Given the description of an element on the screen output the (x, y) to click on. 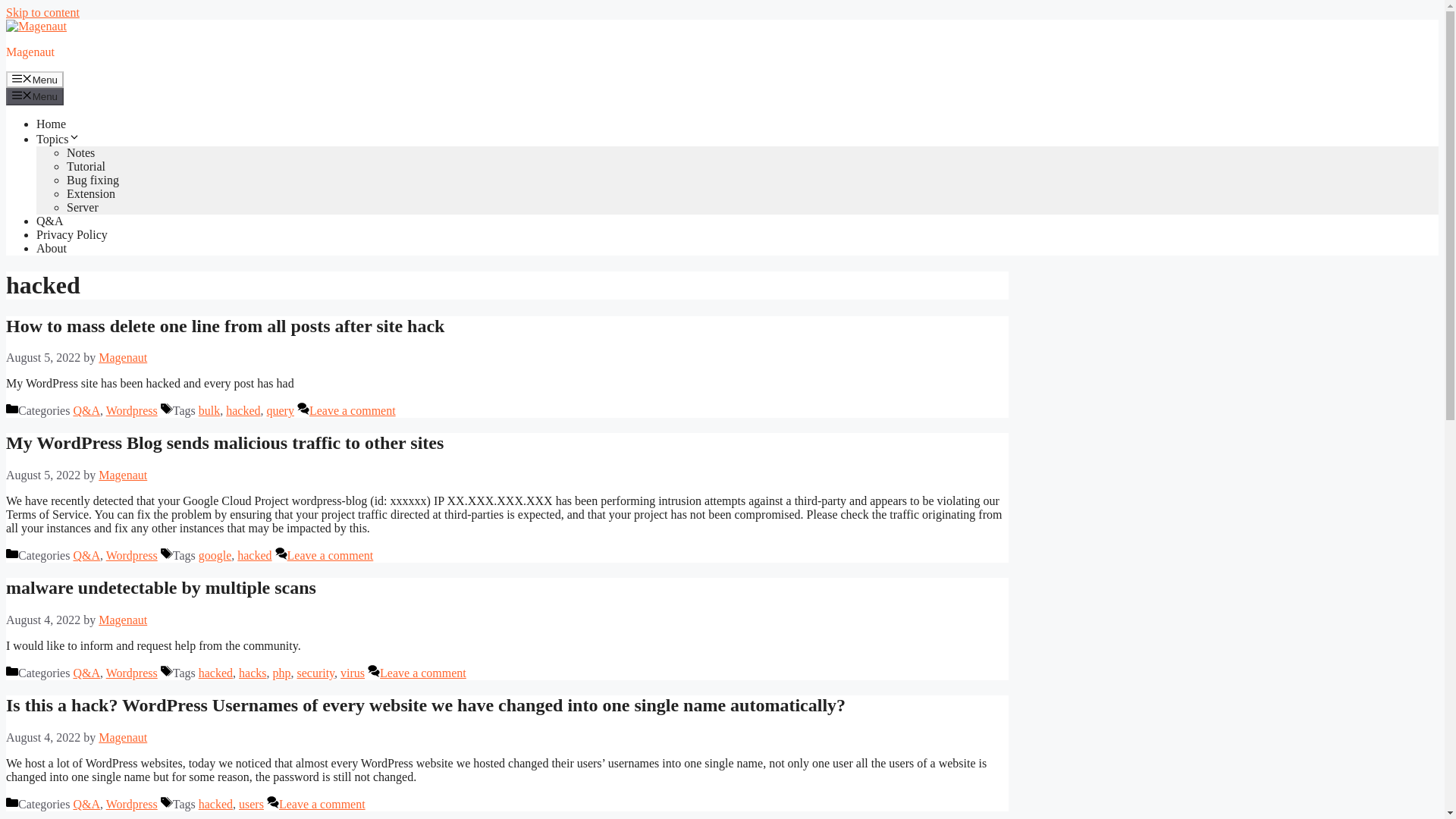
Leave a comment (352, 410)
hacked (215, 672)
Magenaut (123, 474)
hacks (252, 672)
View all posts by Magenaut (123, 357)
Skip to content (42, 11)
Topics (58, 138)
Magenaut (123, 357)
Home (50, 123)
Wordpress (131, 672)
